Given the description of an element on the screen output the (x, y) to click on. 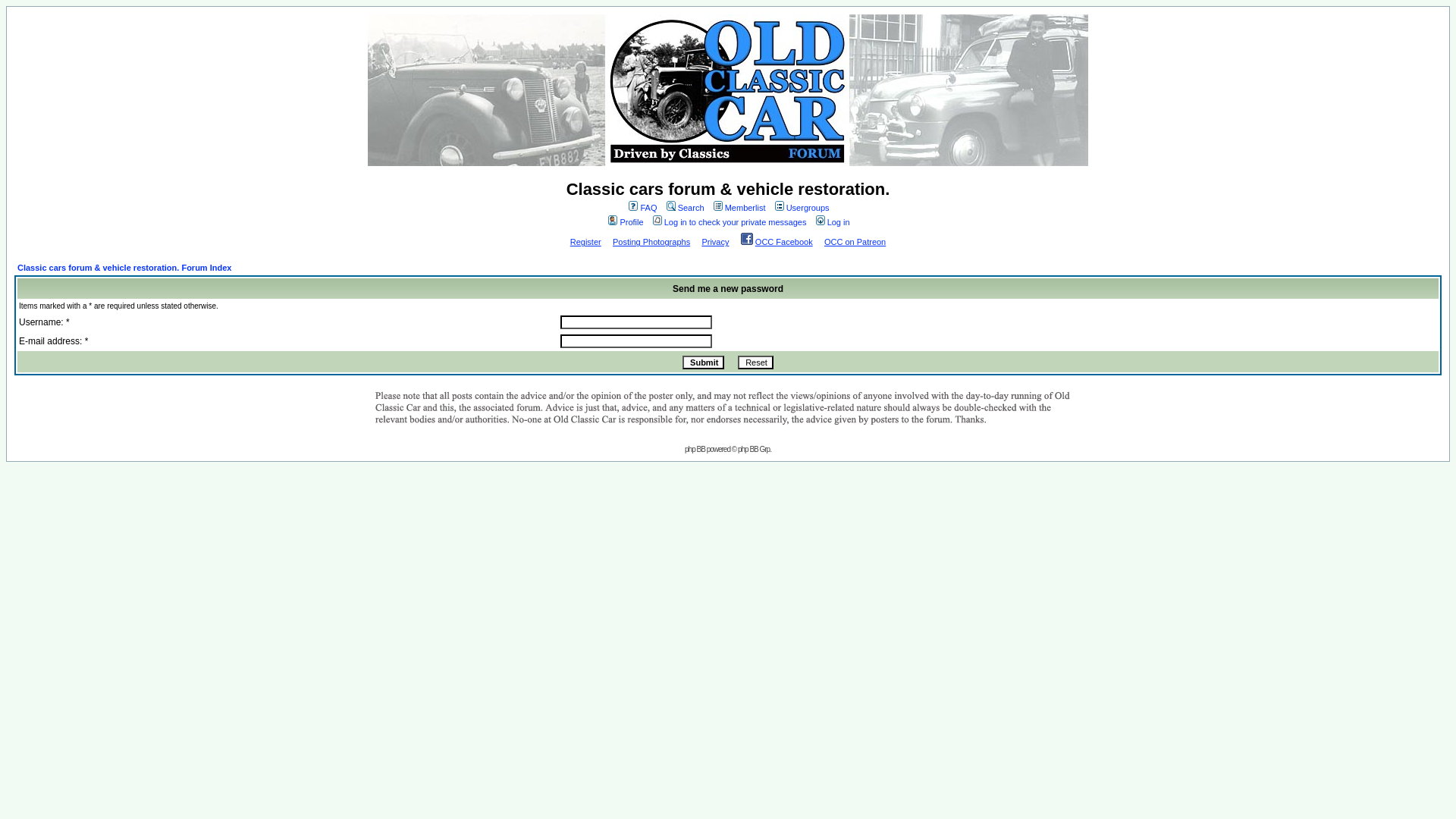
Reset (755, 362)
Register (585, 241)
Submit (702, 362)
Usergroups (801, 207)
Memberlist (738, 207)
Log in (831, 221)
Search (683, 207)
Log in to check your private messages (728, 221)
OCC Facebook (783, 241)
Privacy (715, 241)
Posting Photographs (651, 241)
Profile (624, 221)
Return to the forum homepage (727, 90)
OCC on Patreon (854, 241)
FAQ (641, 207)
